Given the description of an element on the screen output the (x, y) to click on. 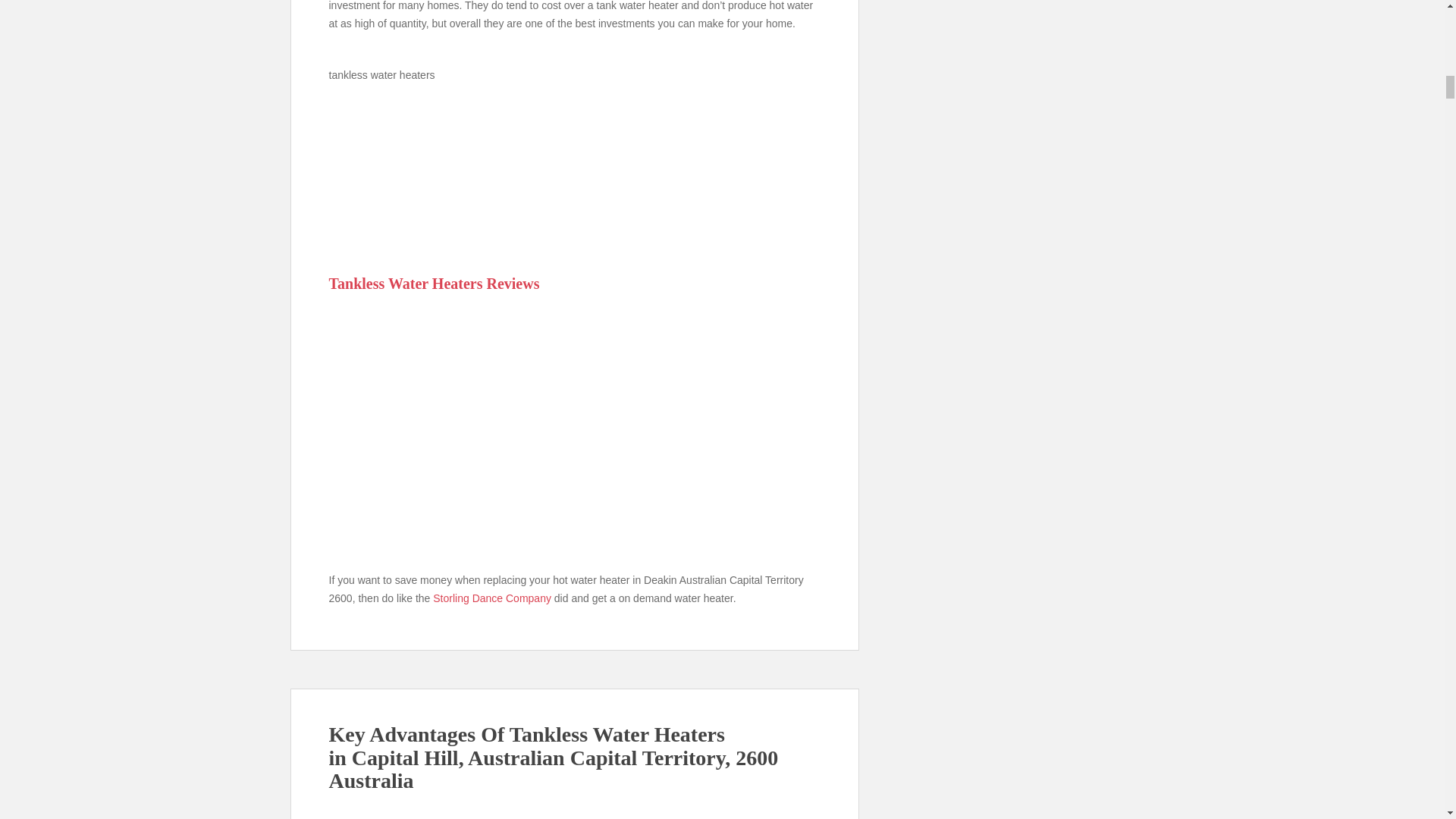
Tankless Water Heaters Reviews (434, 283)
Storling Dance Company (491, 598)
